Given the description of an element on the screen output the (x, y) to click on. 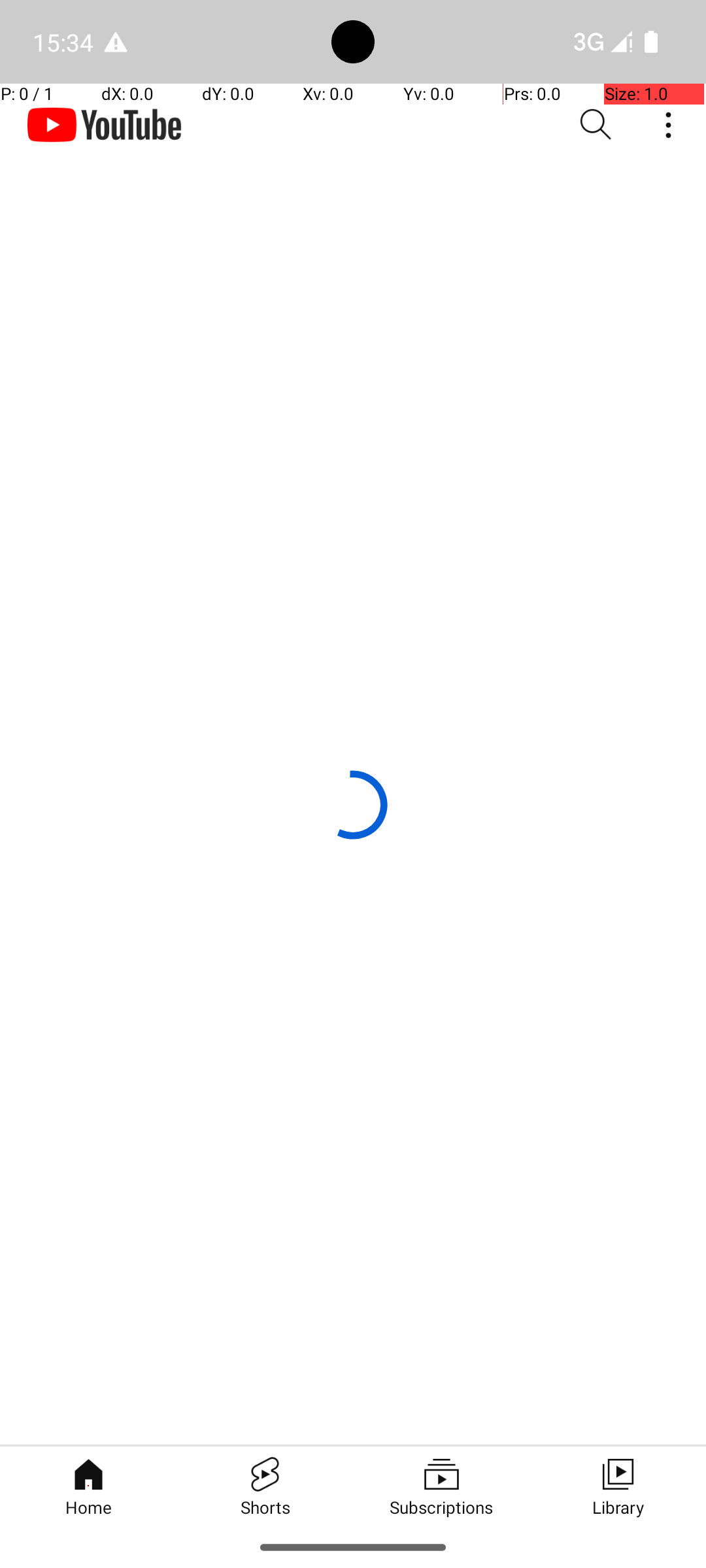
Shorts Element type: android.widget.Button (264, 1485)
Subscriptions Element type: android.widget.Button (441, 1485)
Library Element type: android.widget.Button (617, 1485)
